Given the description of an element on the screen output the (x, y) to click on. 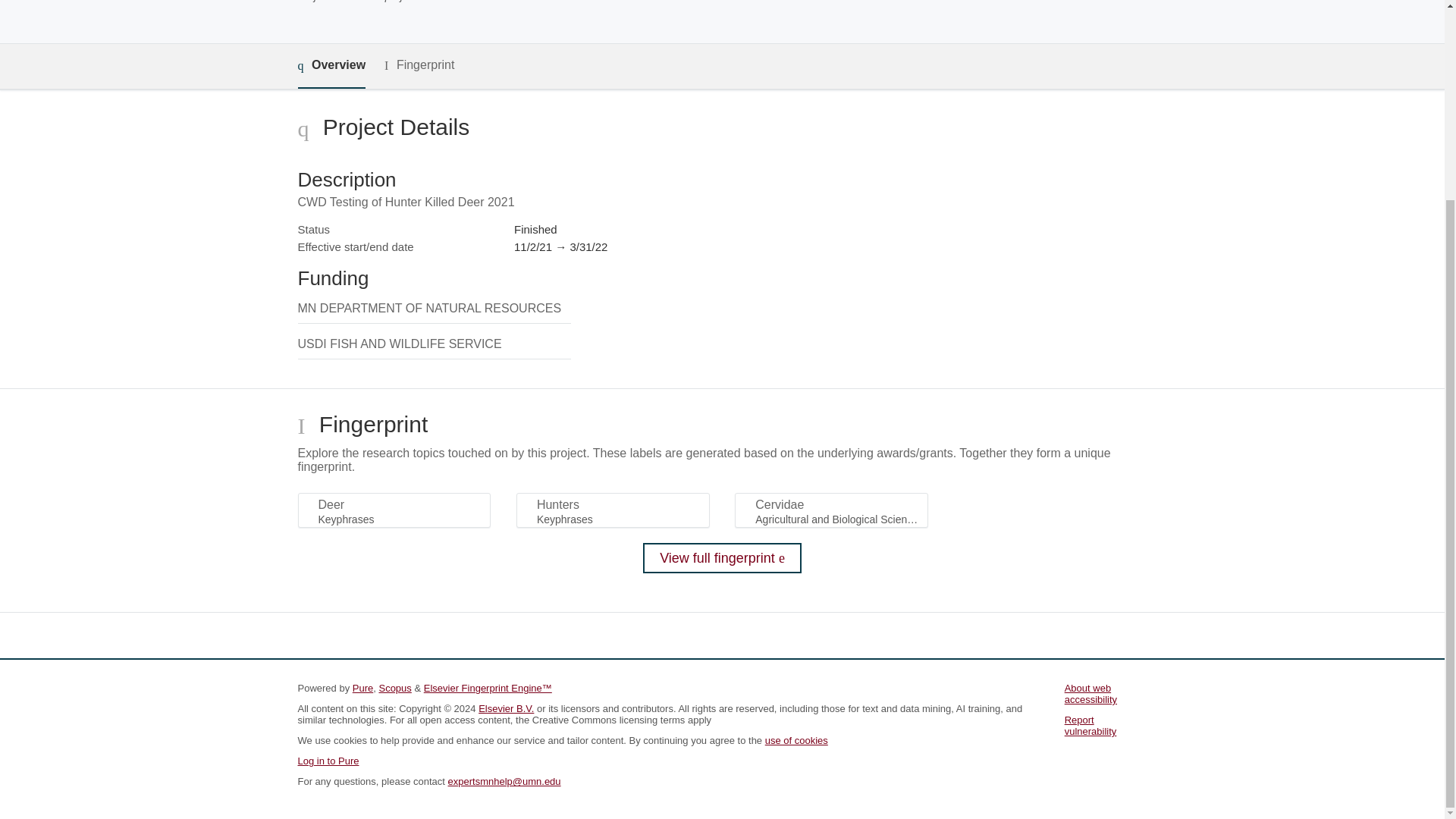
Overview (331, 66)
About web accessibility (1090, 693)
use of cookies (796, 740)
Elsevier B.V. (506, 708)
Report vulnerability (1090, 725)
Fingerprint (419, 65)
Scopus (394, 687)
Pure (362, 687)
View full fingerprint (722, 557)
Log in to Pure (327, 760)
